Given the description of an element on the screen output the (x, y) to click on. 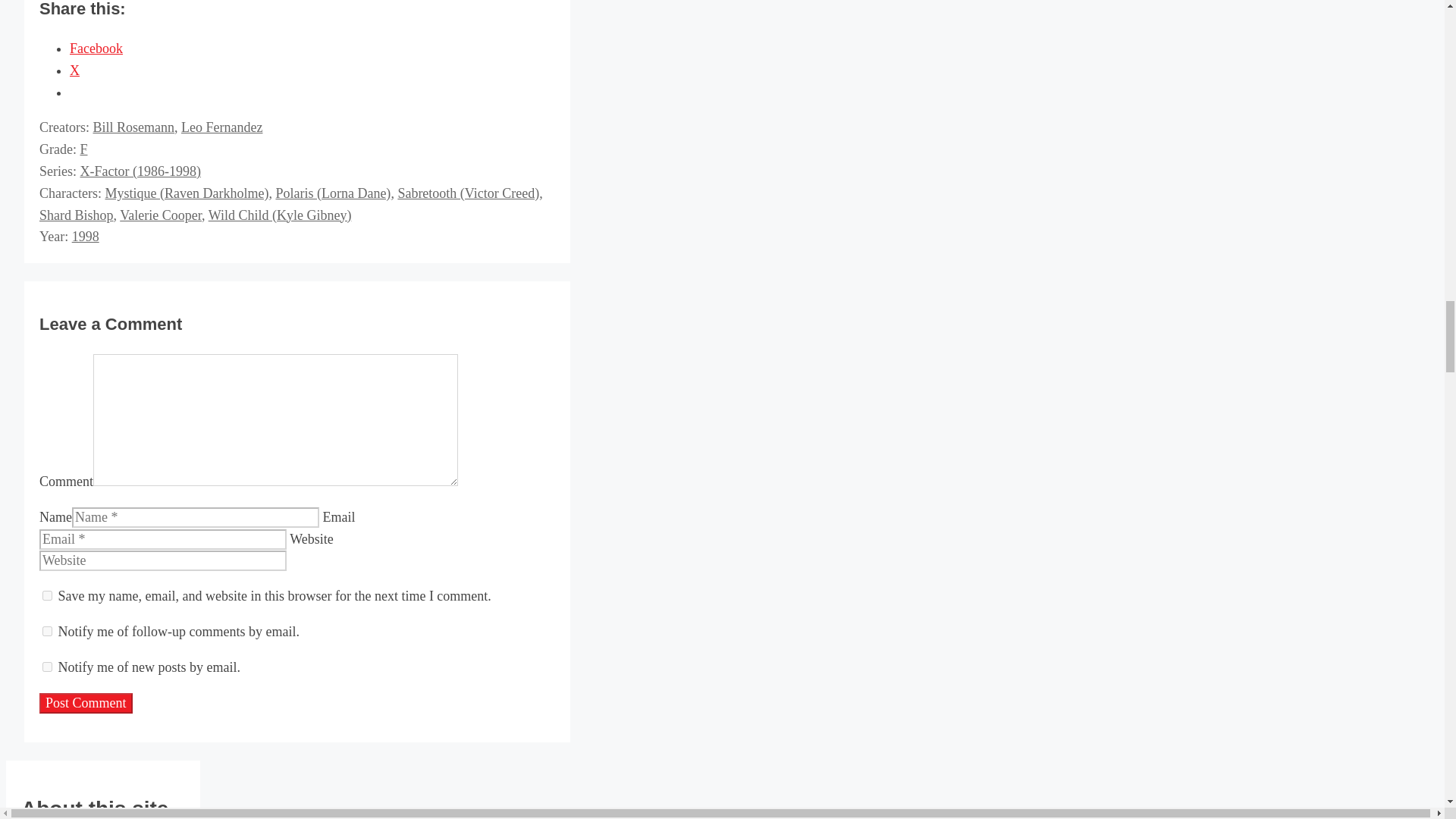
Valerie Cooper (160, 215)
Post Comment (85, 702)
1998 (85, 236)
Leo Fernandez (221, 127)
Shard Bishop (76, 215)
Bill Rosemann (133, 127)
yes (47, 595)
Facebook (95, 48)
Click to share on Facebook (95, 48)
subscribe (47, 631)
